Given the description of an element on the screen output the (x, y) to click on. 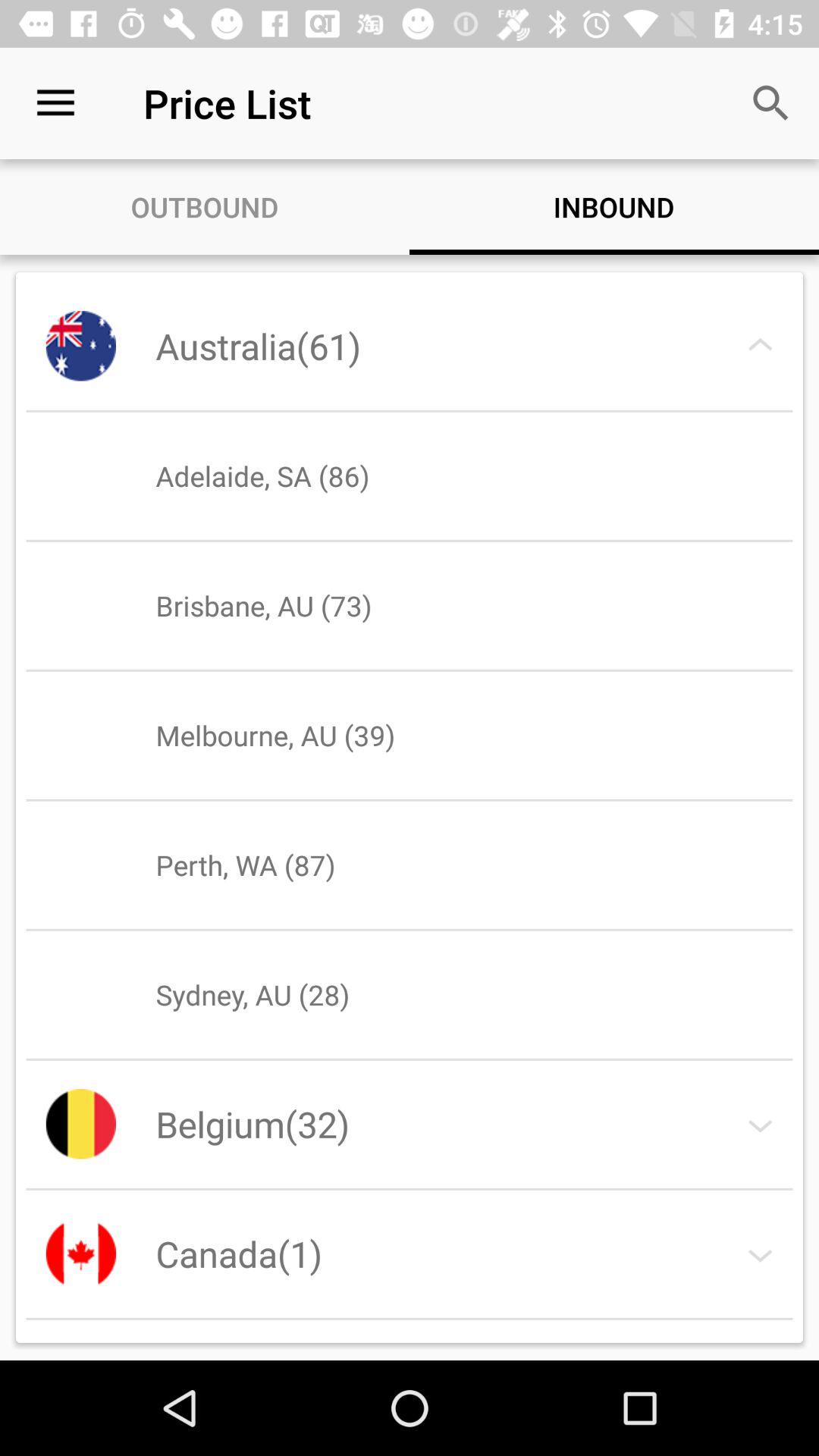
select the icon next to price list (771, 103)
